Given the description of an element on the screen output the (x, y) to click on. 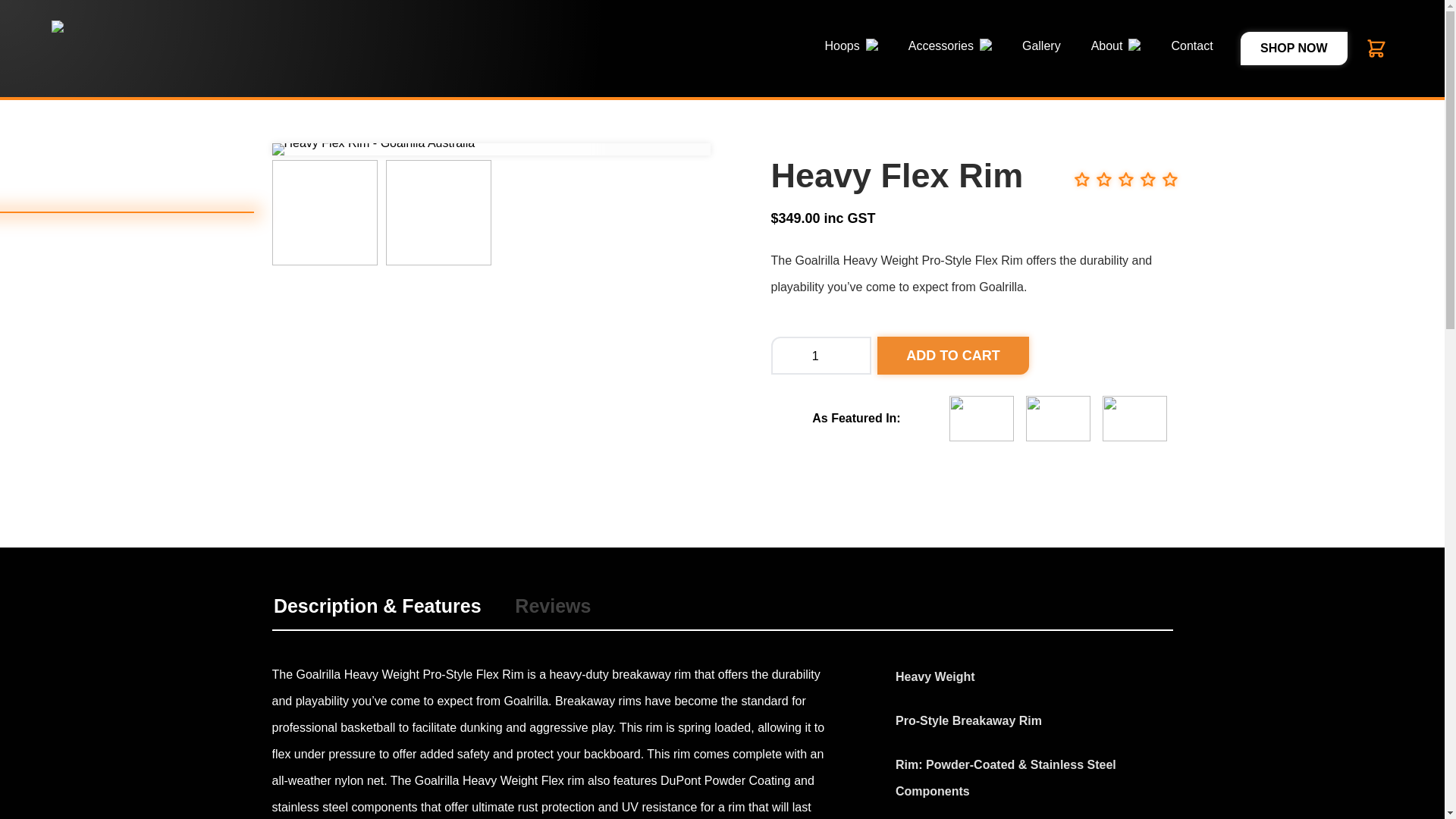
SHOP NOW (1294, 47)
SHOP NOW (1293, 47)
Accessories (949, 48)
Hoops (850, 48)
About (1115, 48)
Gallery (1041, 48)
Contact (1191, 48)
1 (820, 355)
